Given the description of an element on the screen output the (x, y) to click on. 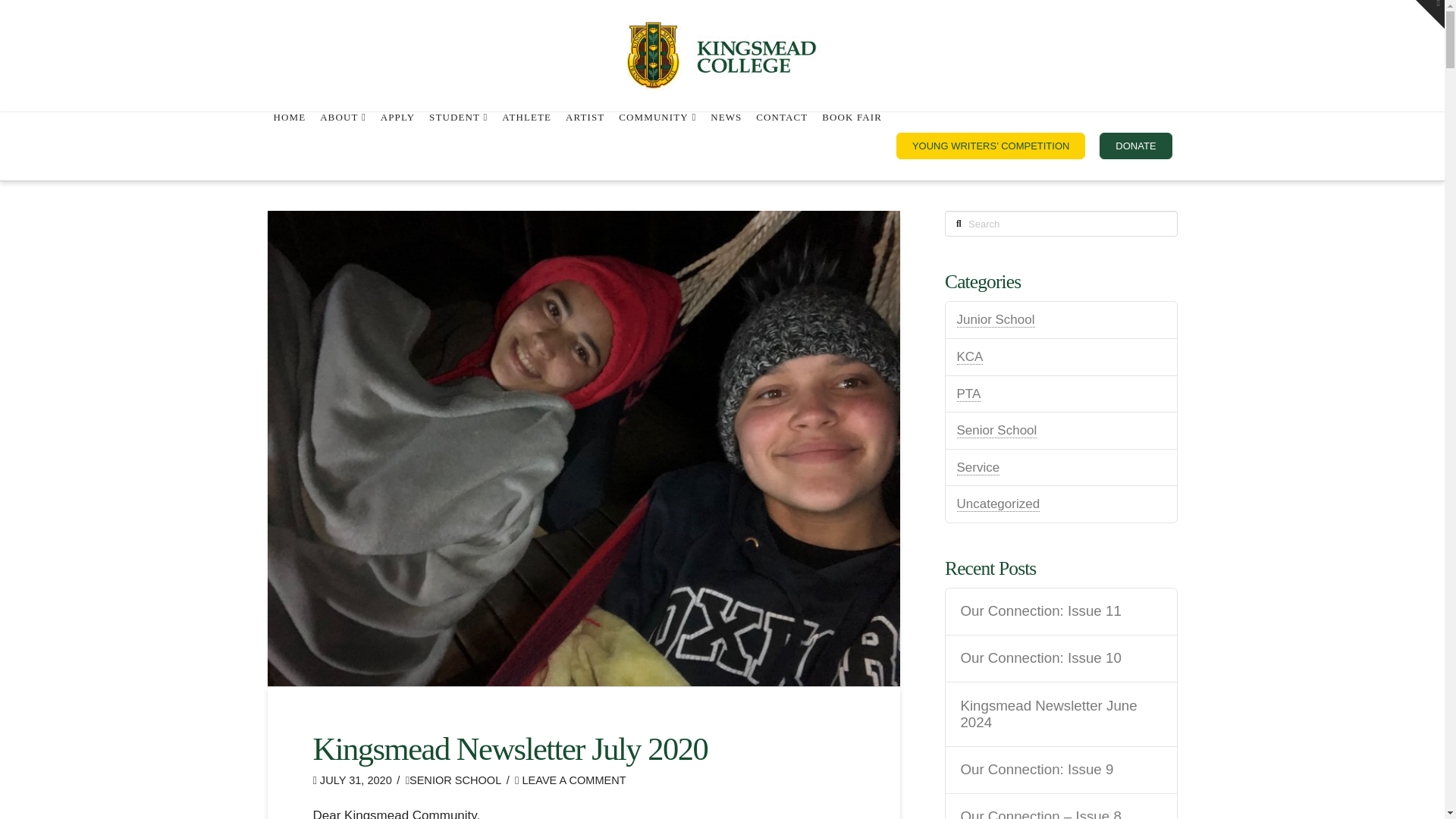
ABOUT (342, 146)
CONTACT (780, 146)
DONATE (1135, 145)
COMMUNITY (657, 146)
DONATE (1134, 146)
STUDENT (458, 146)
ATHLETE (526, 146)
BOOK FAIR (850, 146)
